Given the description of an element on the screen output the (x, y) to click on. 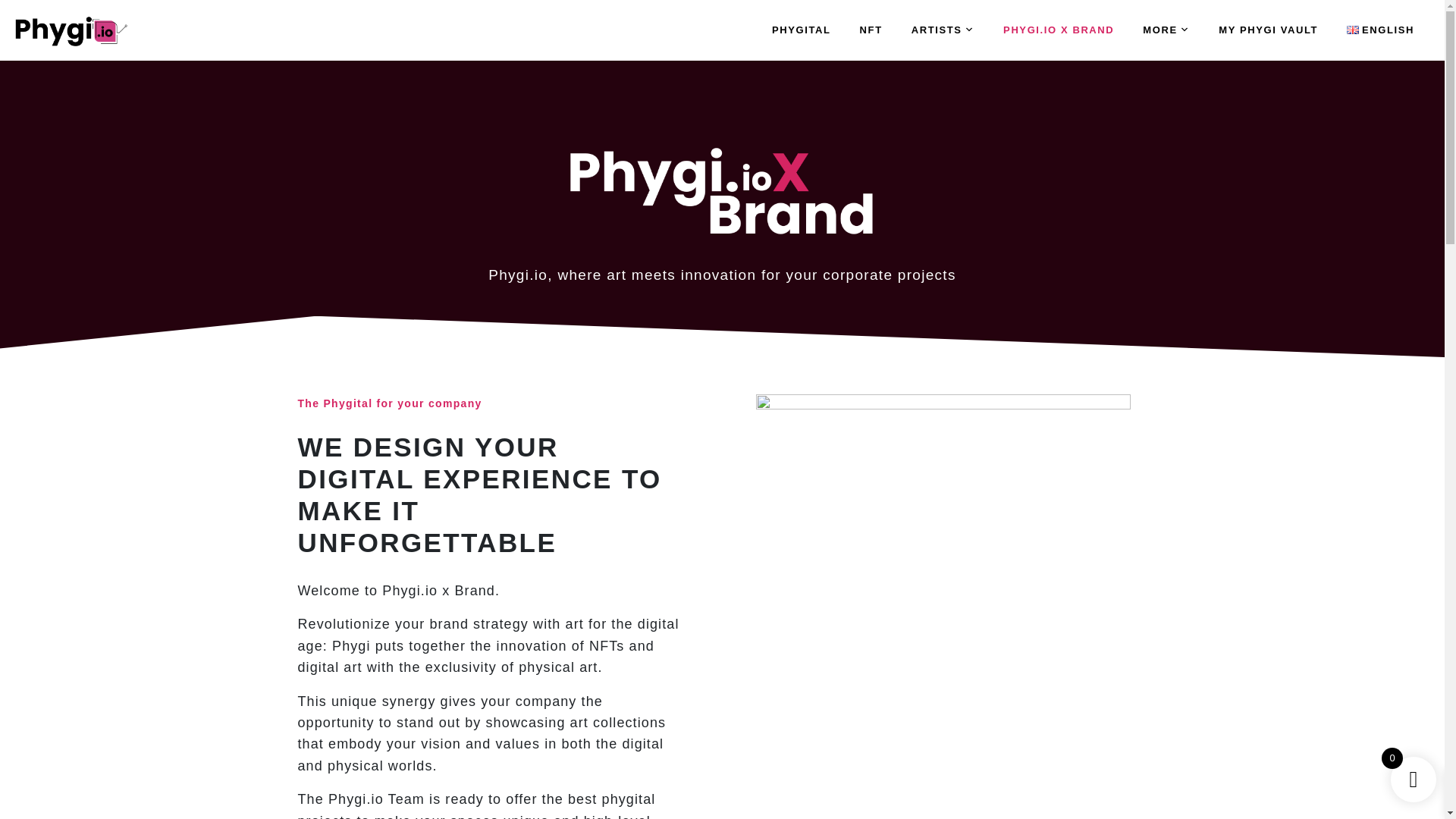
ARTISTS (942, 30)
PHYGI.IO X BRAND (1058, 30)
MY PHYGI VAULT (1267, 30)
ENGLISH (1379, 30)
PHYGITAL (801, 30)
NFT (871, 30)
MORE (1165, 30)
